Given the description of an element on the screen output the (x, y) to click on. 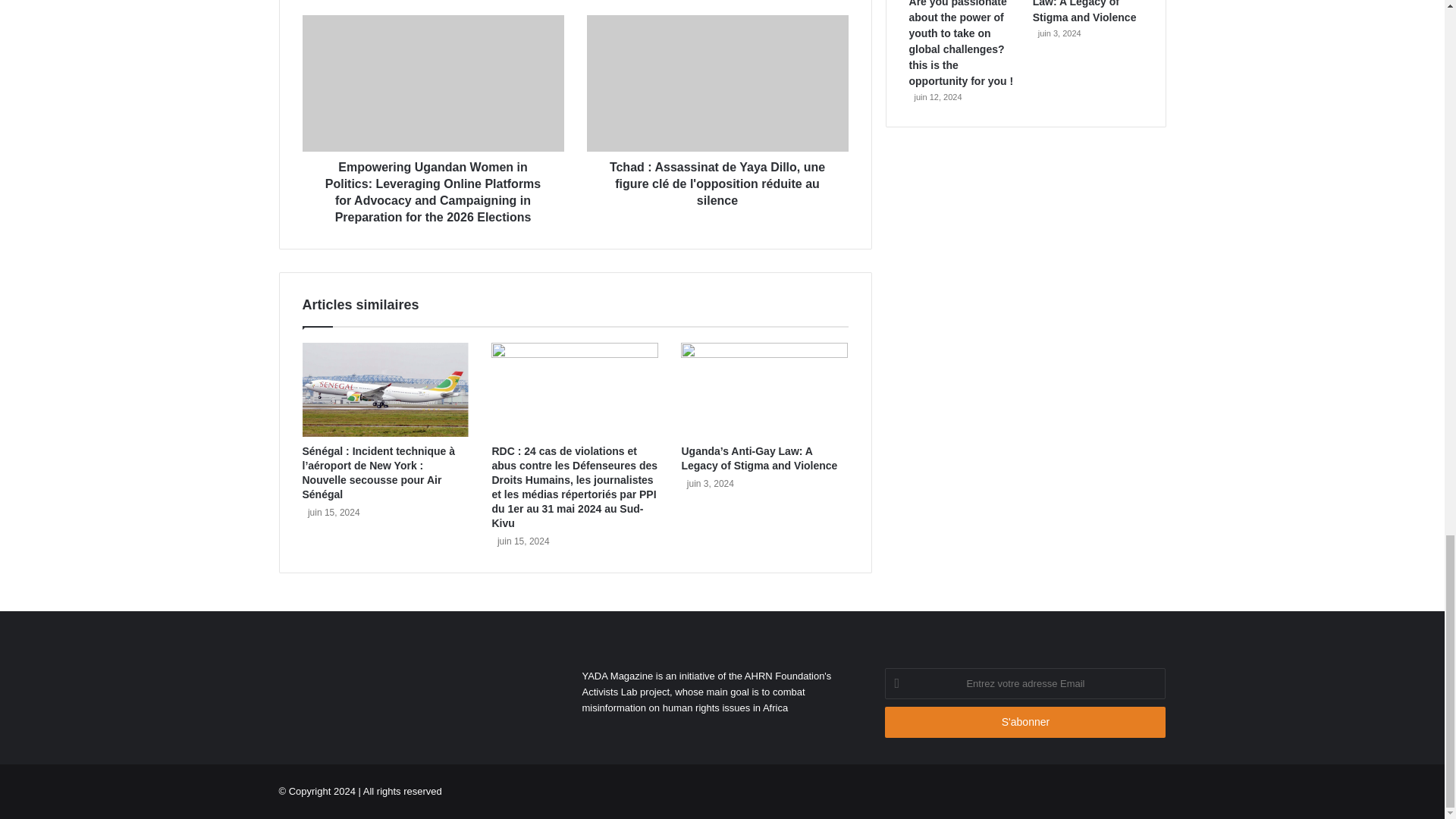
S'abonner (1025, 721)
